Given the description of an element on the screen output the (x, y) to click on. 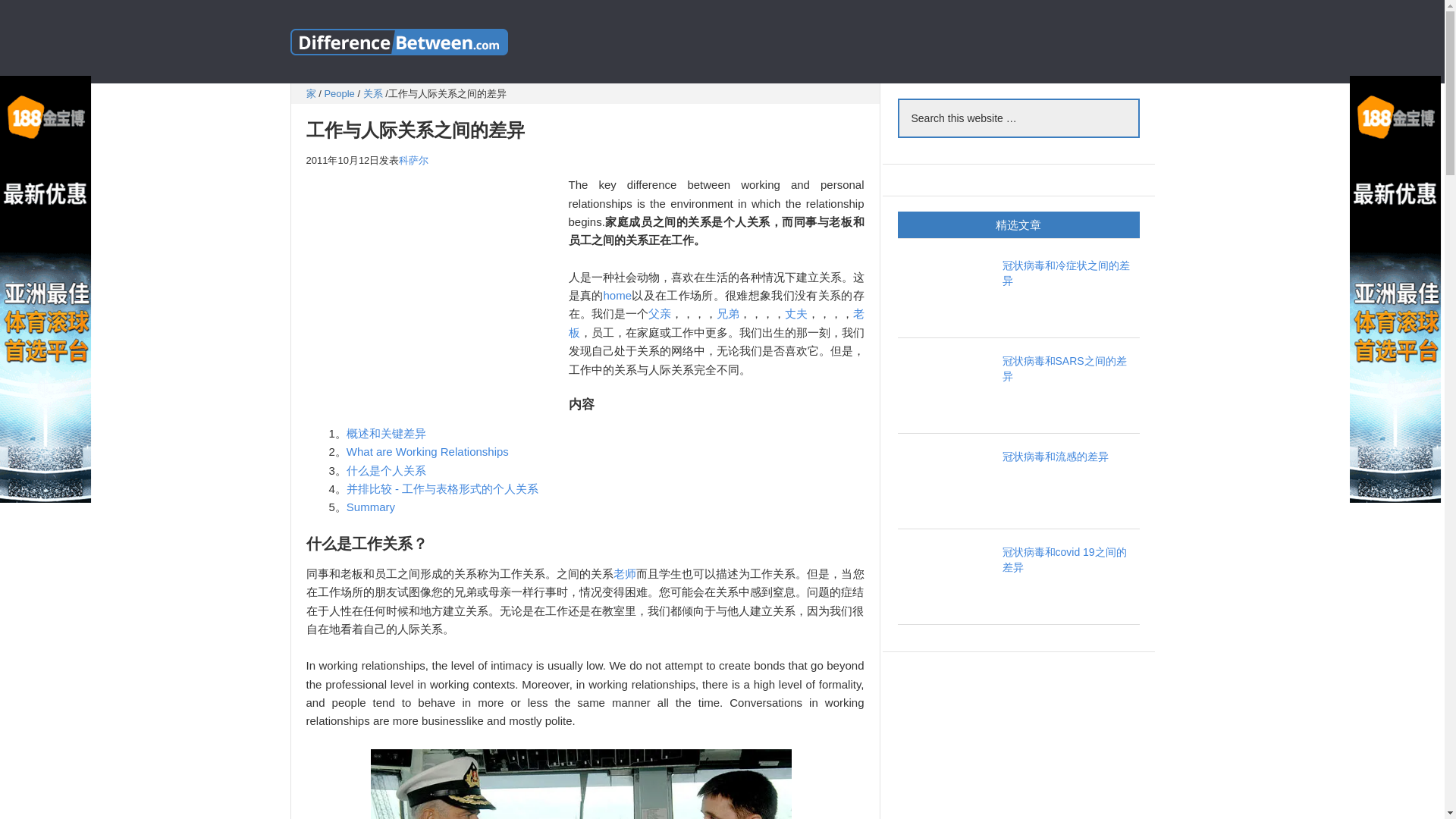
Summary (370, 506)
What are Working Relationships (427, 451)
home (616, 295)
home (616, 295)
People (338, 93)
Difference Between Working and Personal Relationships 1 (581, 784)
